Given the description of an element on the screen output the (x, y) to click on. 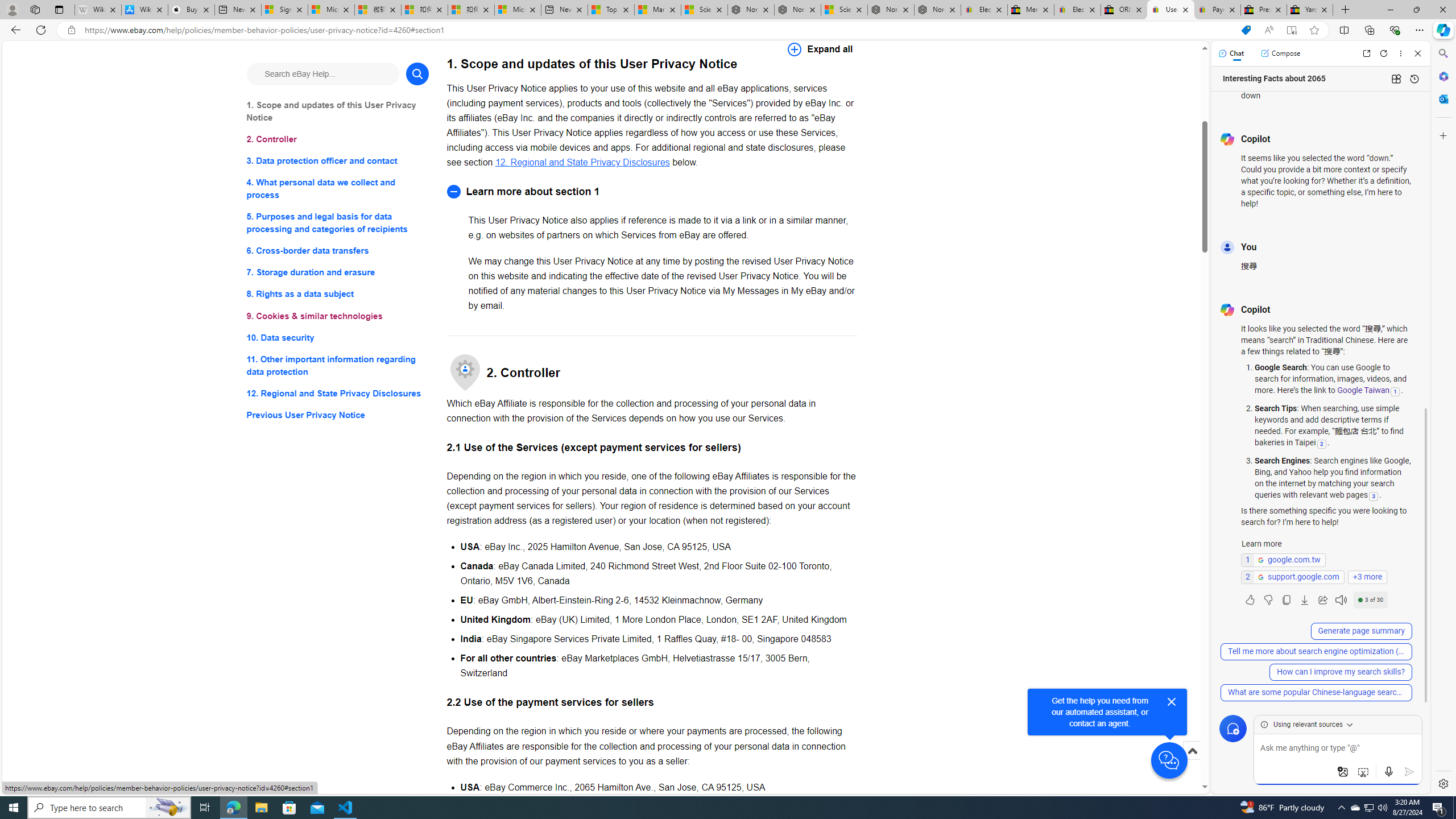
Payments Terms of Use | eBay.com (1216, 9)
10. Data security (337, 336)
11. Other important information regarding data protection (337, 365)
Enter Immersive Reader (F9) (1291, 29)
Yard, Garden & Outdoor Living (1309, 9)
